Given the description of an element on the screen output the (x, y) to click on. 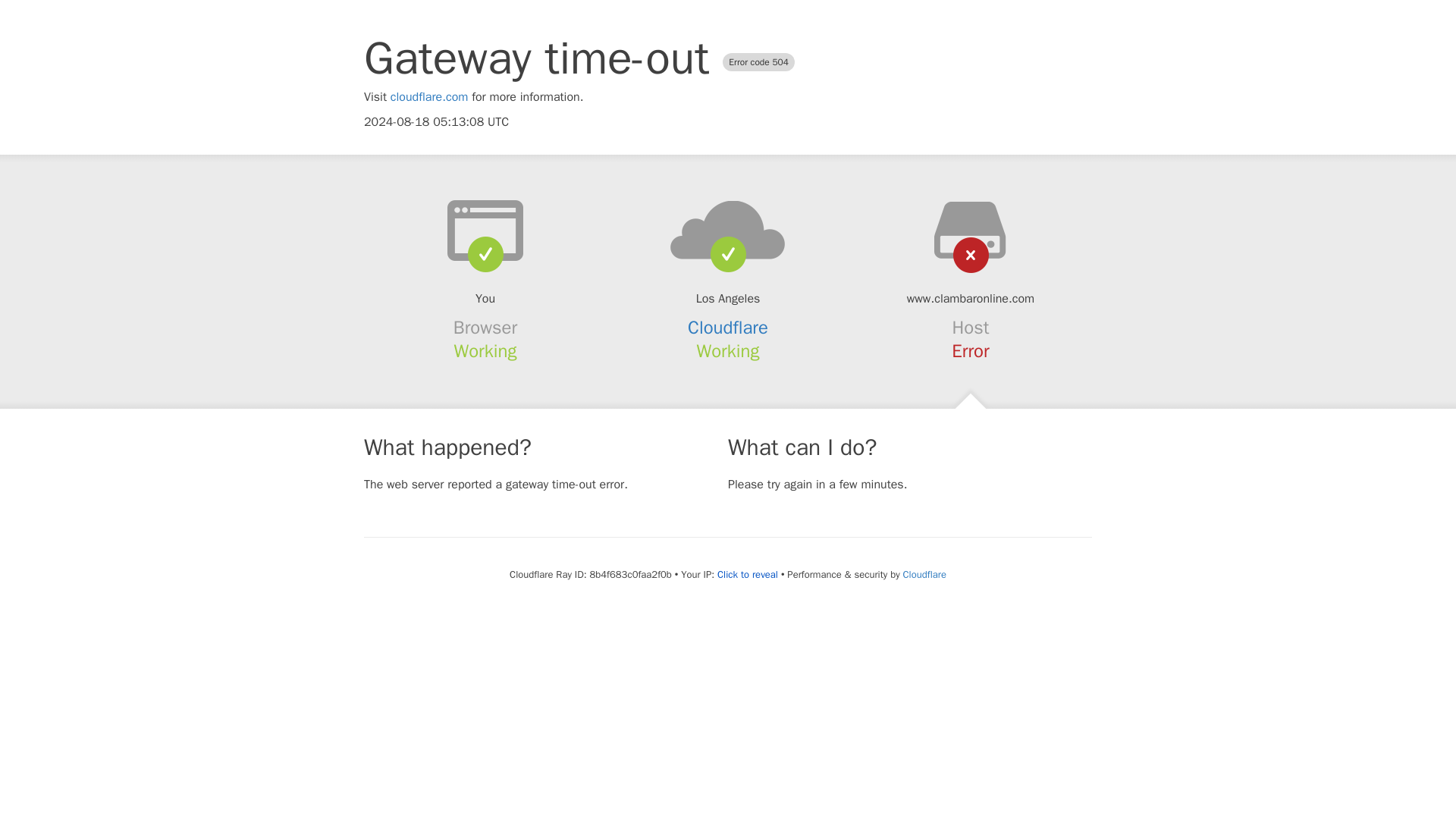
Cloudflare (924, 574)
cloudflare.com (429, 96)
Cloudflare (727, 327)
Click to reveal (747, 574)
